Given the description of an element on the screen output the (x, y) to click on. 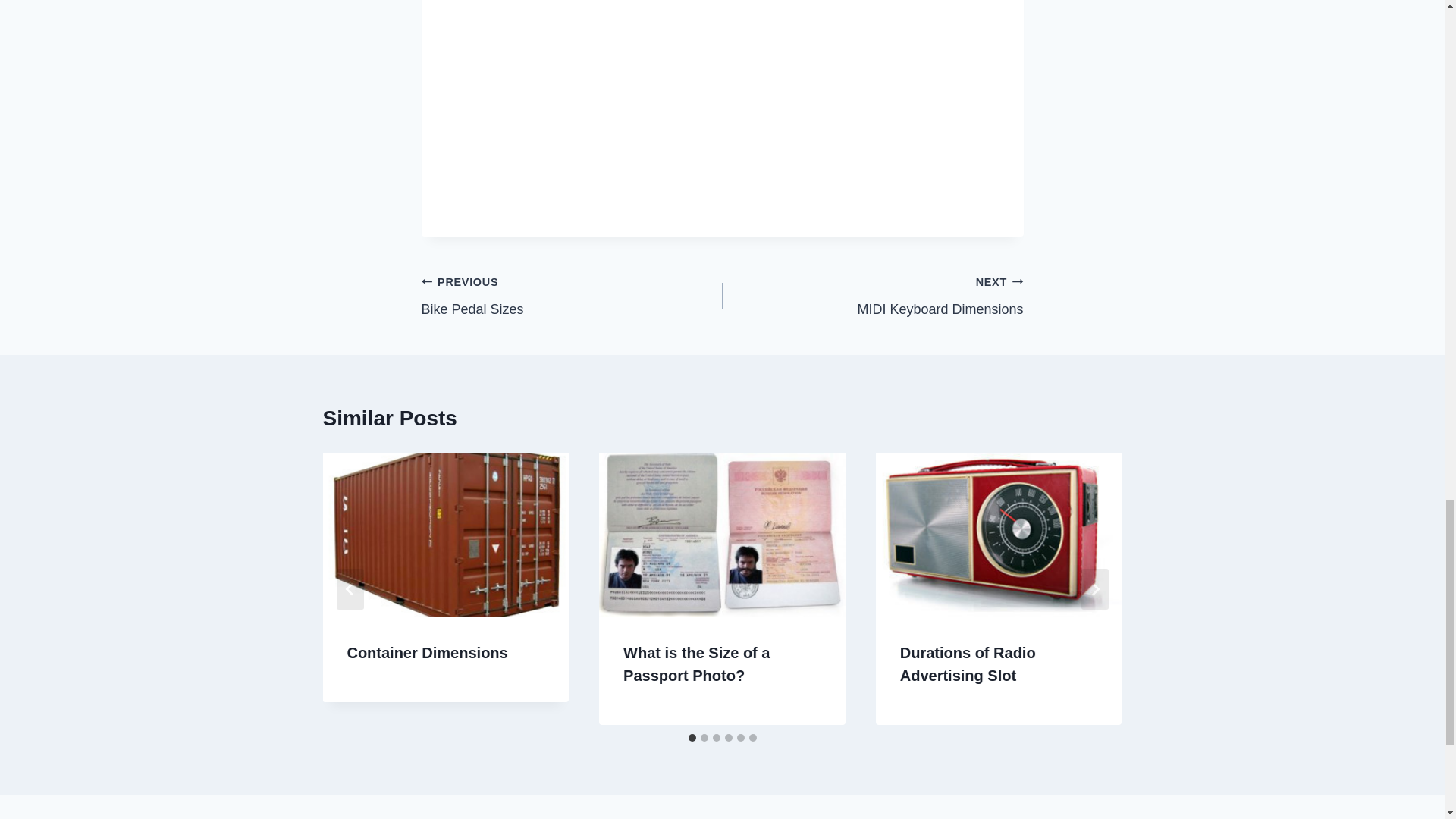
Advertisement (872, 296)
